Given the description of an element on the screen output the (x, y) to click on. 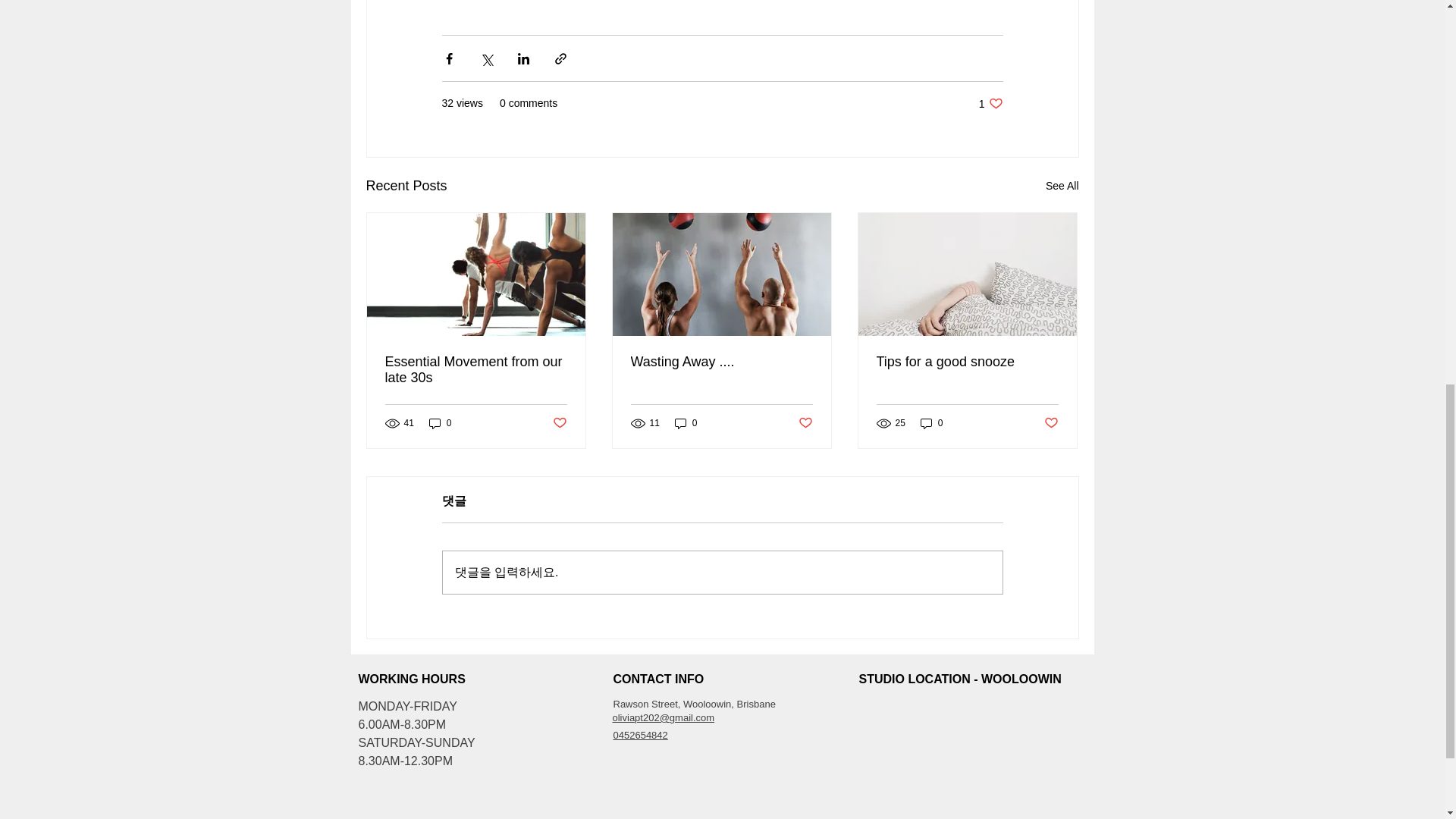
0 (685, 422)
Post not marked as liked (804, 423)
0 (990, 103)
Wasting Away .... (931, 422)
Post not marked as liked (721, 361)
0 (558, 423)
Post not marked as liked (440, 422)
See All (1050, 423)
0452654842 (1061, 186)
Essential Movement from our late 30s (639, 735)
Tips for a good snooze (476, 369)
